Given the description of an element on the screen output the (x, y) to click on. 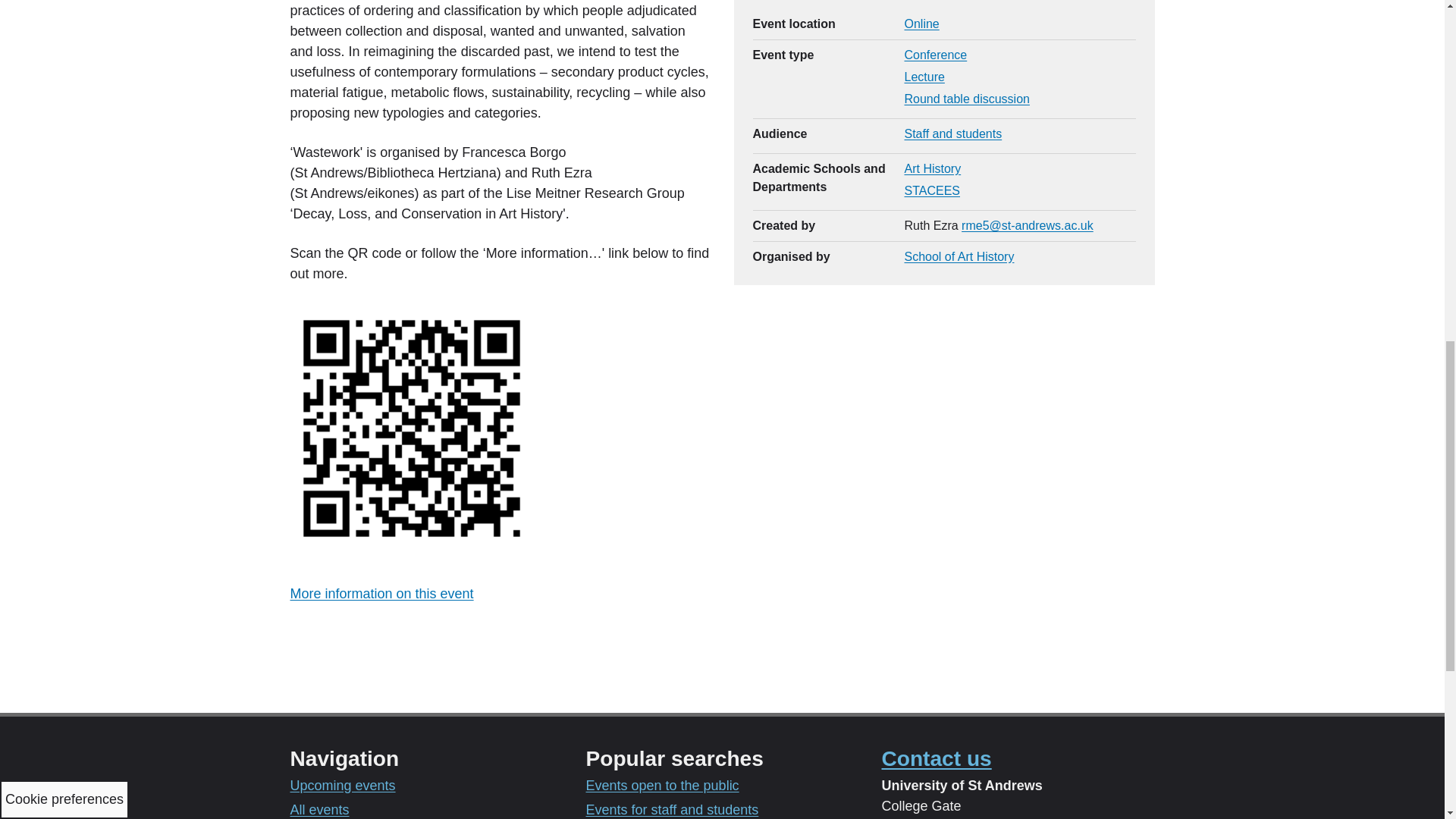
Conference (935, 54)
STACEES (931, 190)
Round table discussion (966, 98)
More information on this event (381, 593)
Events open to the public (661, 785)
School of Art History (958, 256)
All events (319, 809)
Art History (932, 168)
Lecture (923, 76)
Upcoming events (341, 785)
Staff and students (952, 133)
Events for staff and students (671, 809)
Online (921, 23)
